Given the description of an element on the screen output the (x, y) to click on. 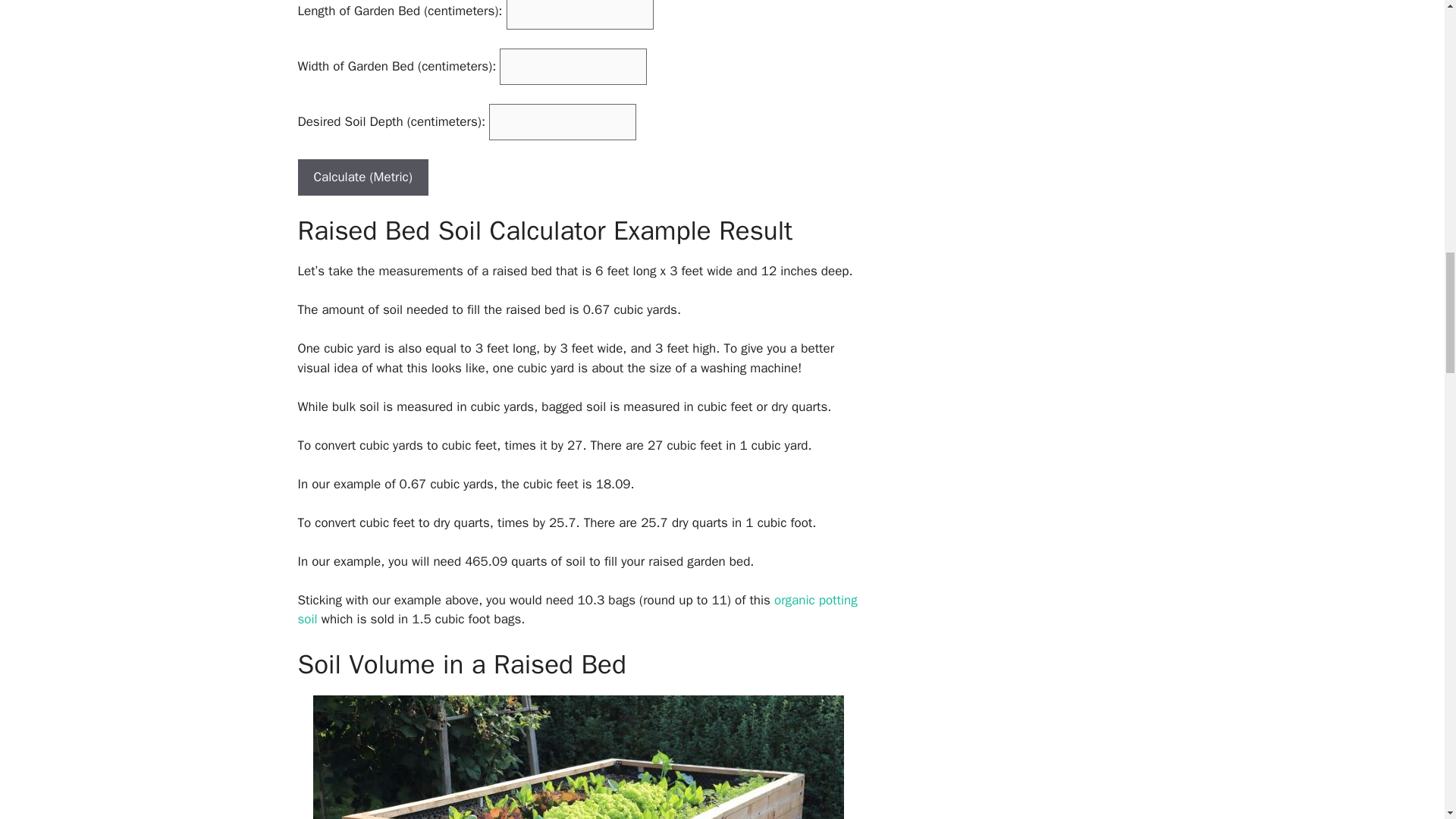
Organic Potting Soil (577, 610)
